Given the description of an element on the screen output the (x, y) to click on. 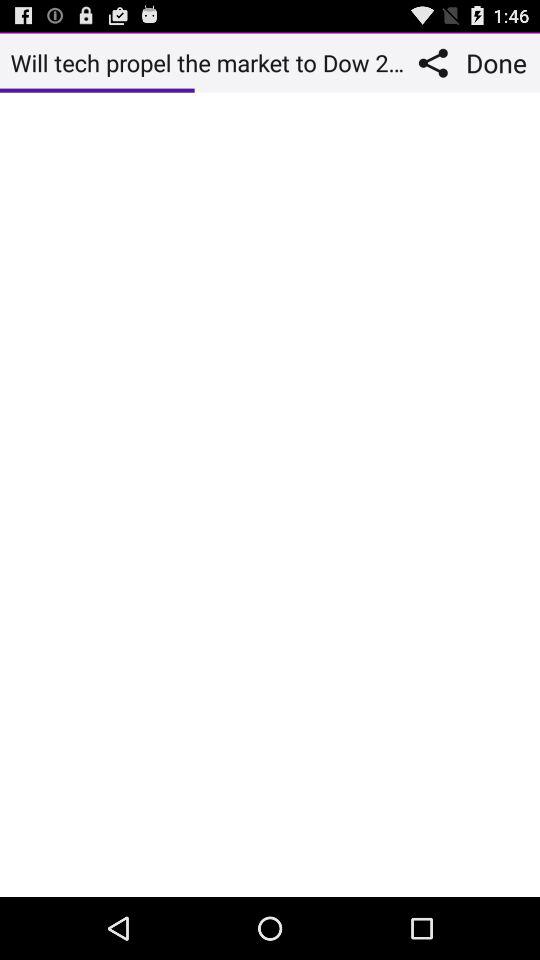
message (270, 494)
